Given the description of an element on the screen output the (x, y) to click on. 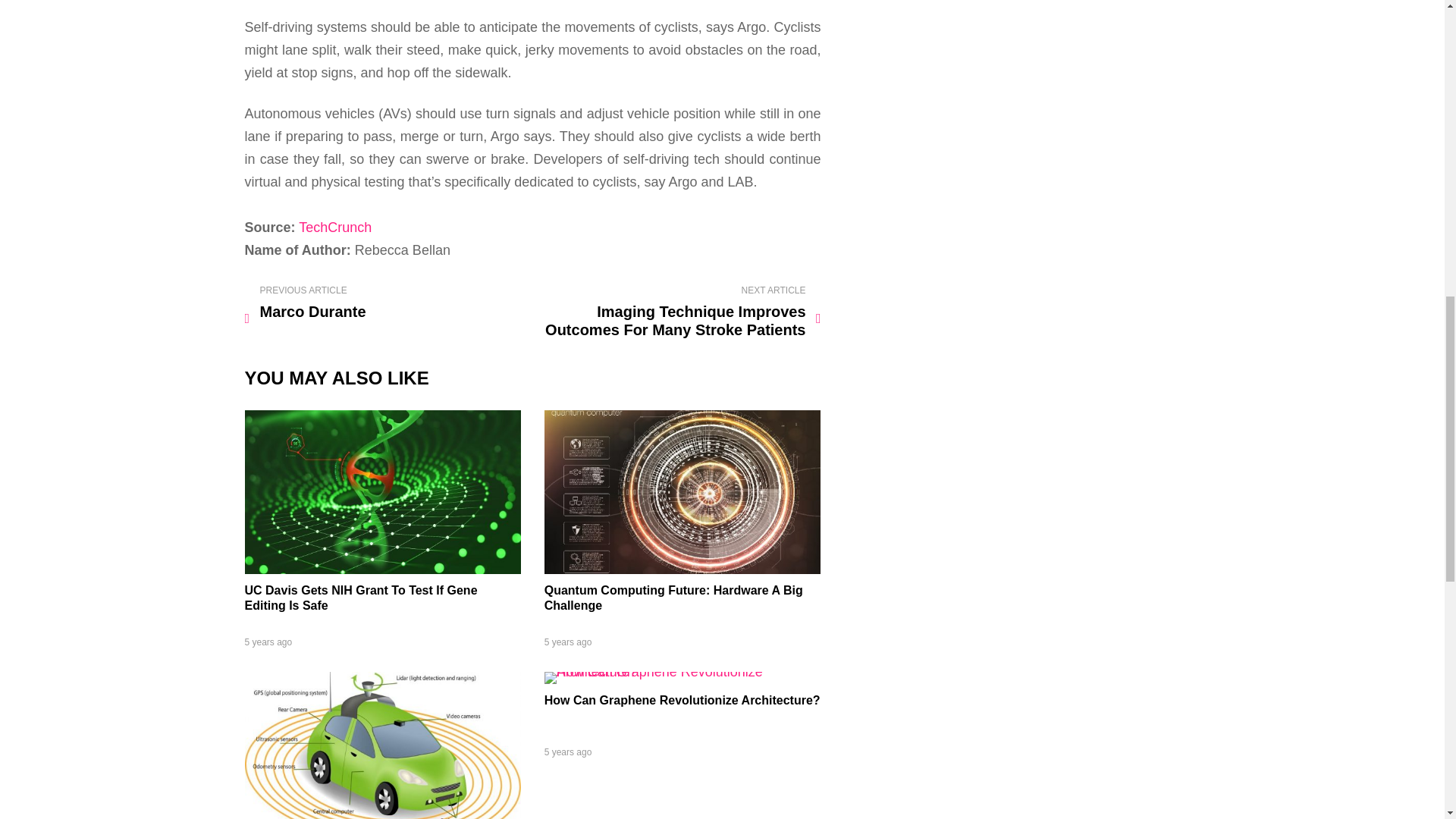
Imaging Technique Improves Outcomes For Many Stroke Patients (679, 312)
UC Davis Gets NIH Grant To Test If Gene Editing Is Safe (360, 597)
How Can Graphene Revolutionize Architecture? (682, 671)
Quantum Computing Future: Hardware A Big Challenge (682, 569)
Quantum Computing Future: Hardware A Big Challenge (673, 597)
UC Davis Gets NIH Grant To Test If Gene Editing Is Safe (382, 569)
Marco Durante (384, 303)
How Can Graphene Revolutionize Architecture? (682, 699)
